Given the description of an element on the screen output the (x, y) to click on. 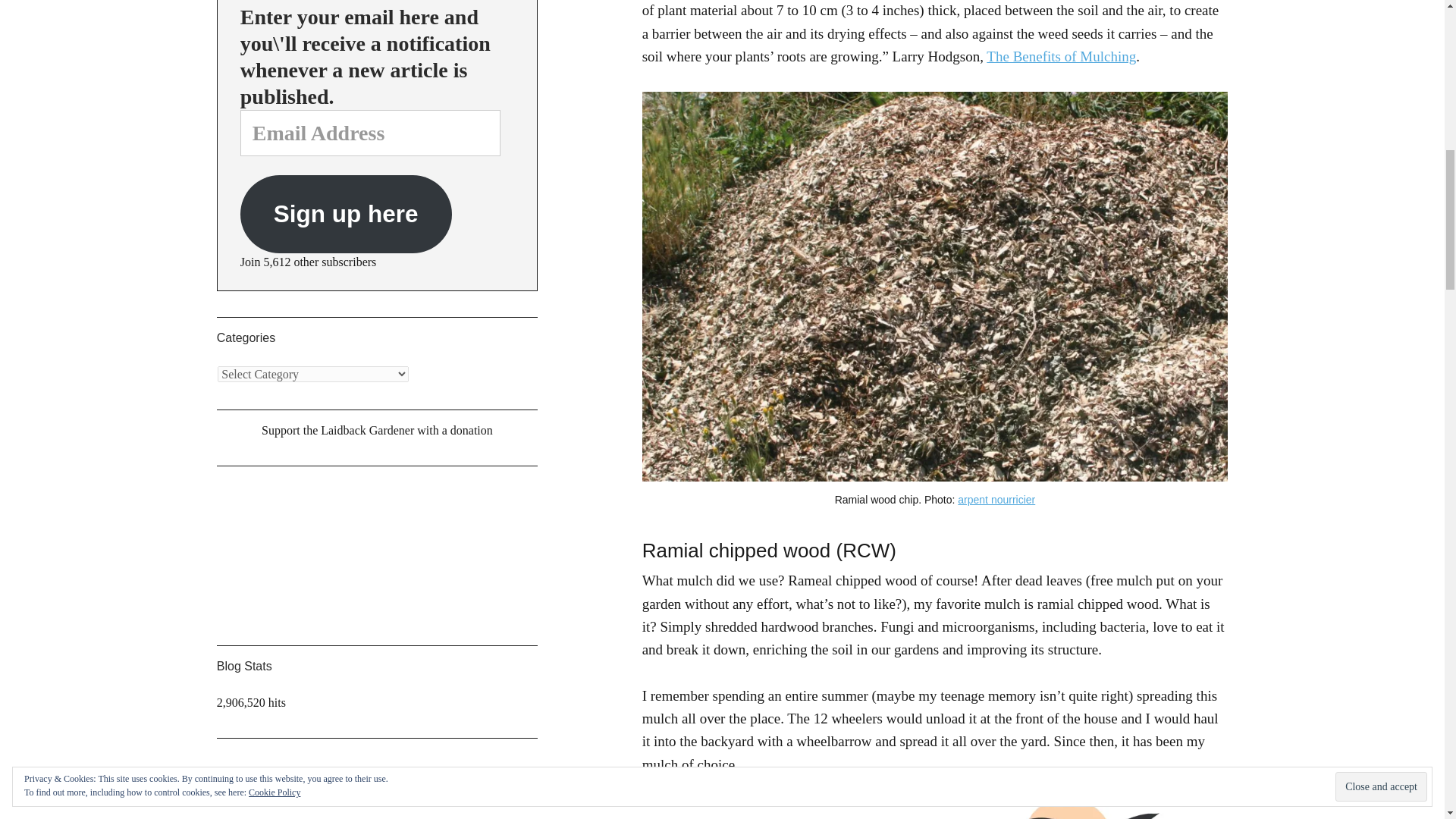
The Benefits of Mulching (1061, 56)
arpent nourricier (996, 499)
